Given the description of an element on the screen output the (x, y) to click on. 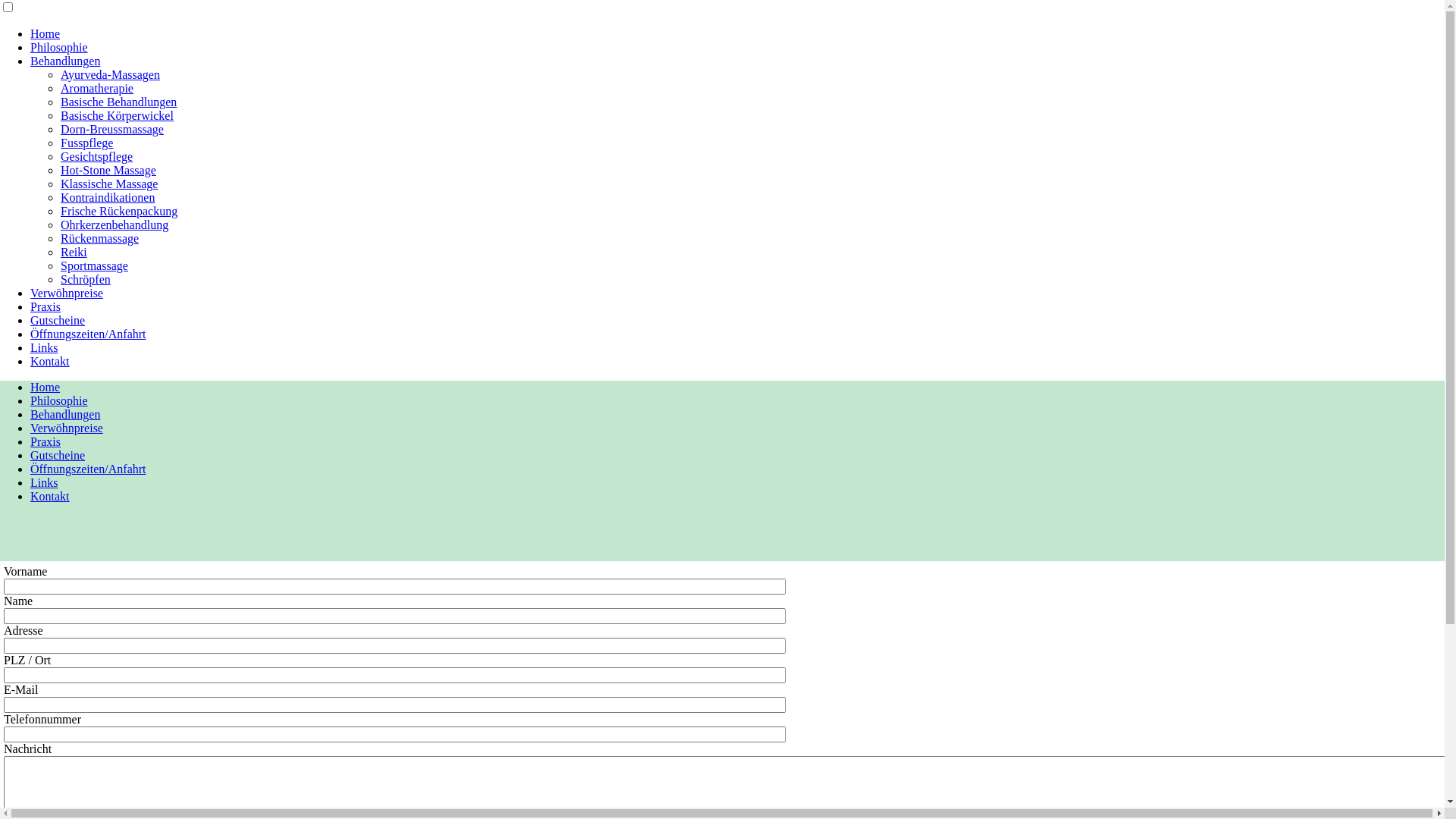
Behandlungen Element type: text (65, 413)
Hot-Stone Massage Element type: text (108, 169)
Reiki Element type: text (73, 251)
Sportmassage Element type: text (94, 265)
Klassische Massage Element type: text (108, 183)
Behandlungen Element type: text (65, 60)
Basische Behandlungen Element type: text (118, 101)
Praxis Element type: text (45, 306)
Kontakt Element type: text (49, 360)
Ayurveda-Massagen Element type: text (110, 74)
Gutscheine Element type: text (57, 319)
Home Element type: text (44, 386)
Kontraindikationen Element type: text (107, 197)
Links Element type: text (43, 347)
Ohrkerzenbehandlung Element type: text (114, 224)
Dorn-Breussmassage Element type: text (111, 128)
Home Element type: text (44, 33)
Philosophie Element type: text (58, 46)
Kontakt Element type: text (49, 495)
Gutscheine Element type: text (57, 454)
Fusspflege Element type: text (86, 142)
Praxis Element type: text (45, 441)
Links Element type: text (43, 482)
Gesichtspflege Element type: text (96, 156)
Aromatherapie Element type: text (96, 87)
Philosophie Element type: text (58, 400)
